Given the description of an element on the screen output the (x, y) to click on. 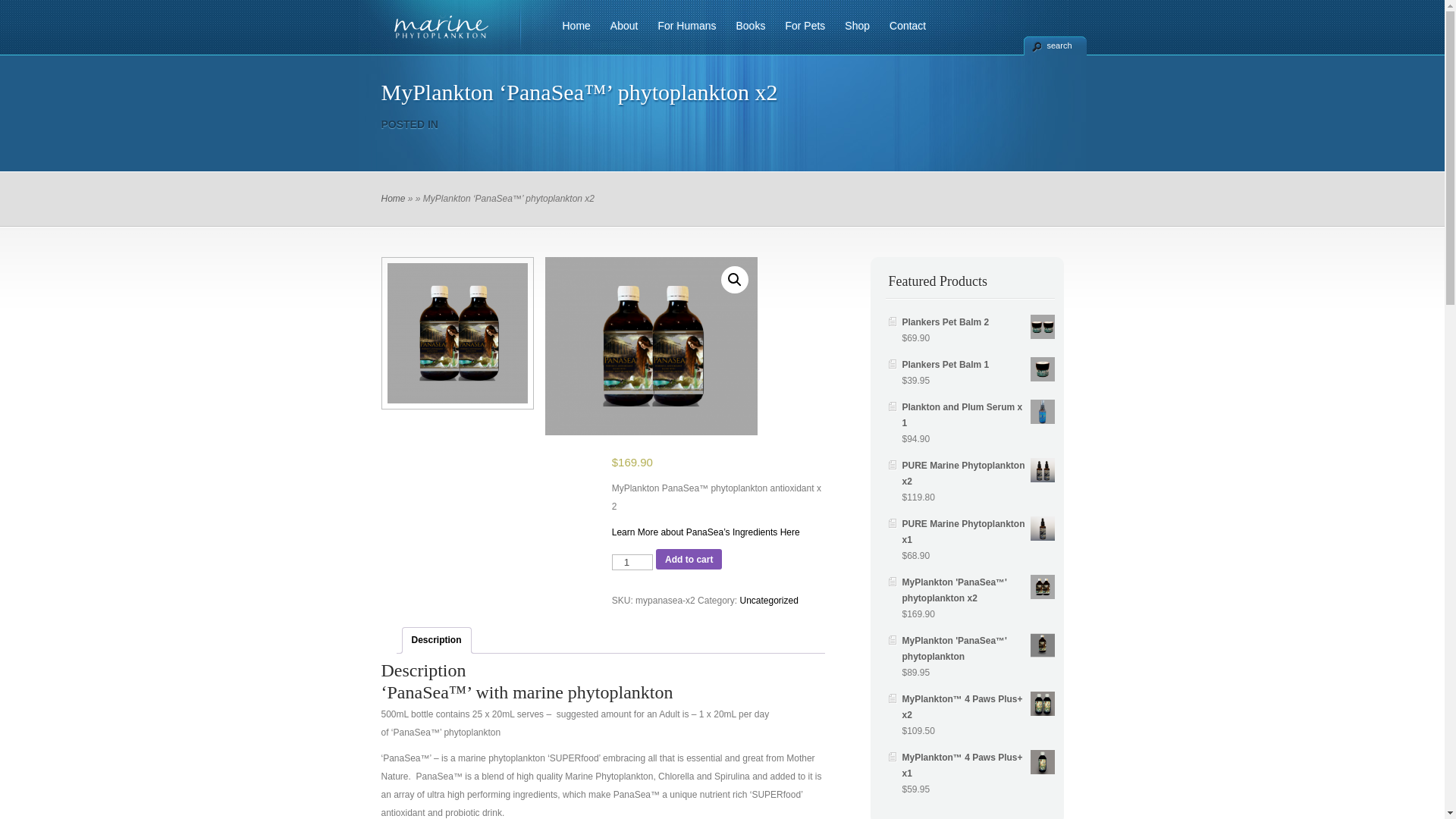
For Humans Element type: text (680, 33)
Description Element type: text (436, 639)
Contact Element type: text (901, 33)
About Element type: text (618, 33)
Plankers Pet Balm 1 Element type: text (978, 365)
Books Element type: text (744, 33)
PURE Marine Phytoplankton x2 Element type: text (978, 473)
Uncategorized Element type: text (768, 600)
Plankers Pet Balm 2 Element type: text (978, 322)
Plankton and Plum Serum x 1 Element type: text (978, 415)
Home Element type: text (392, 198)
Home Element type: text (571, 33)
For Pets Element type: text (799, 33)
search Element type: text (1054, 45)
Shop Element type: text (851, 33)
PURE Marine Phytoplankton x1 Element type: text (978, 532)
Add to cart Element type: text (688, 559)
